Given the description of an element on the screen output the (x, y) to click on. 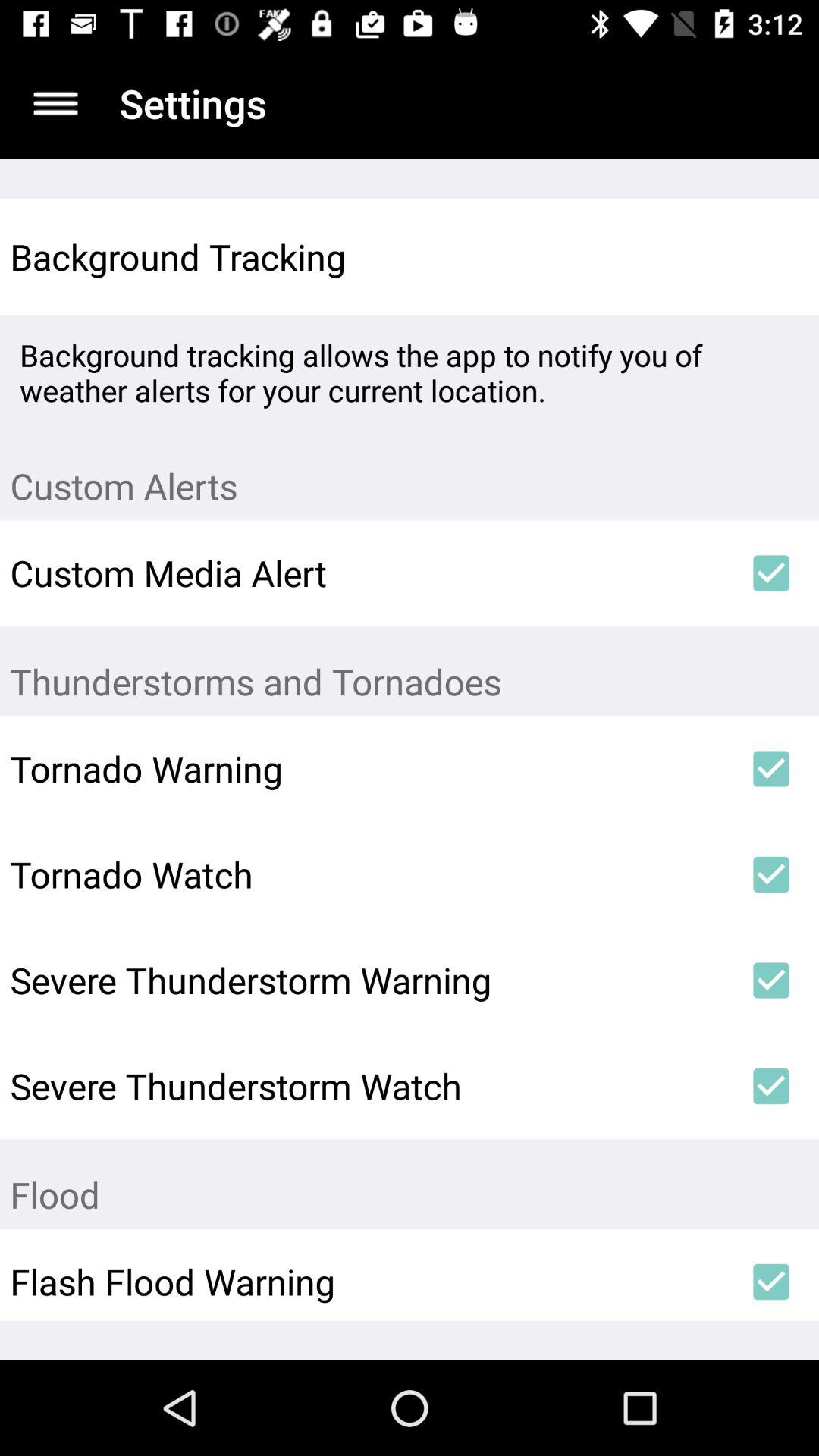
turn off the icon next to severe thunderstorm warning item (771, 980)
